Given the description of an element on the screen output the (x, y) to click on. 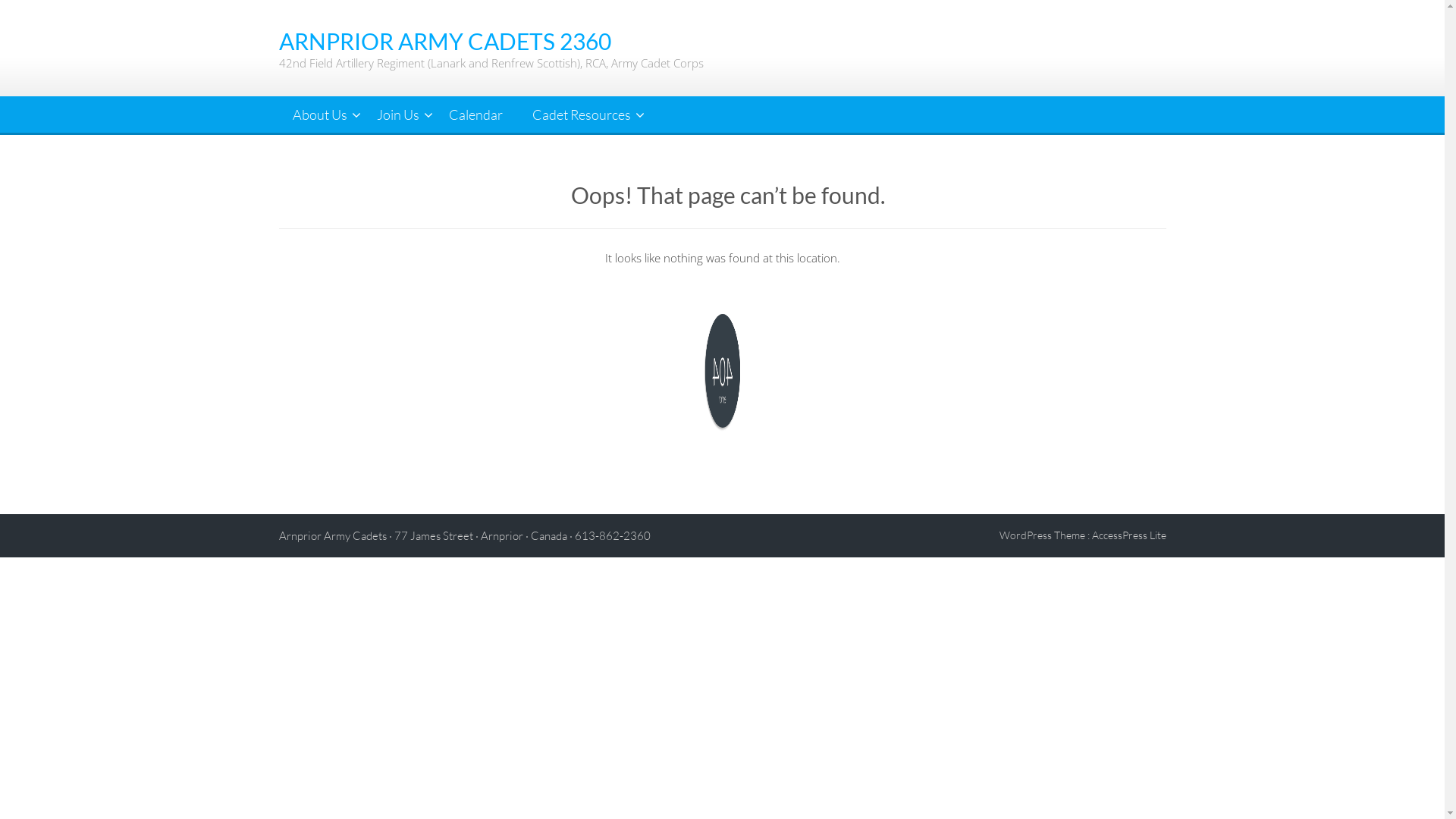
AccessPress Lite Element type: text (1129, 534)
Skip to content Element type: text (0, 0)
About Us Element type: text (319, 114)
Calendar Element type: text (475, 114)
Join Us Element type: text (397, 114)
Cadet Resources Element type: text (581, 114)
